Given the description of an element on the screen output the (x, y) to click on. 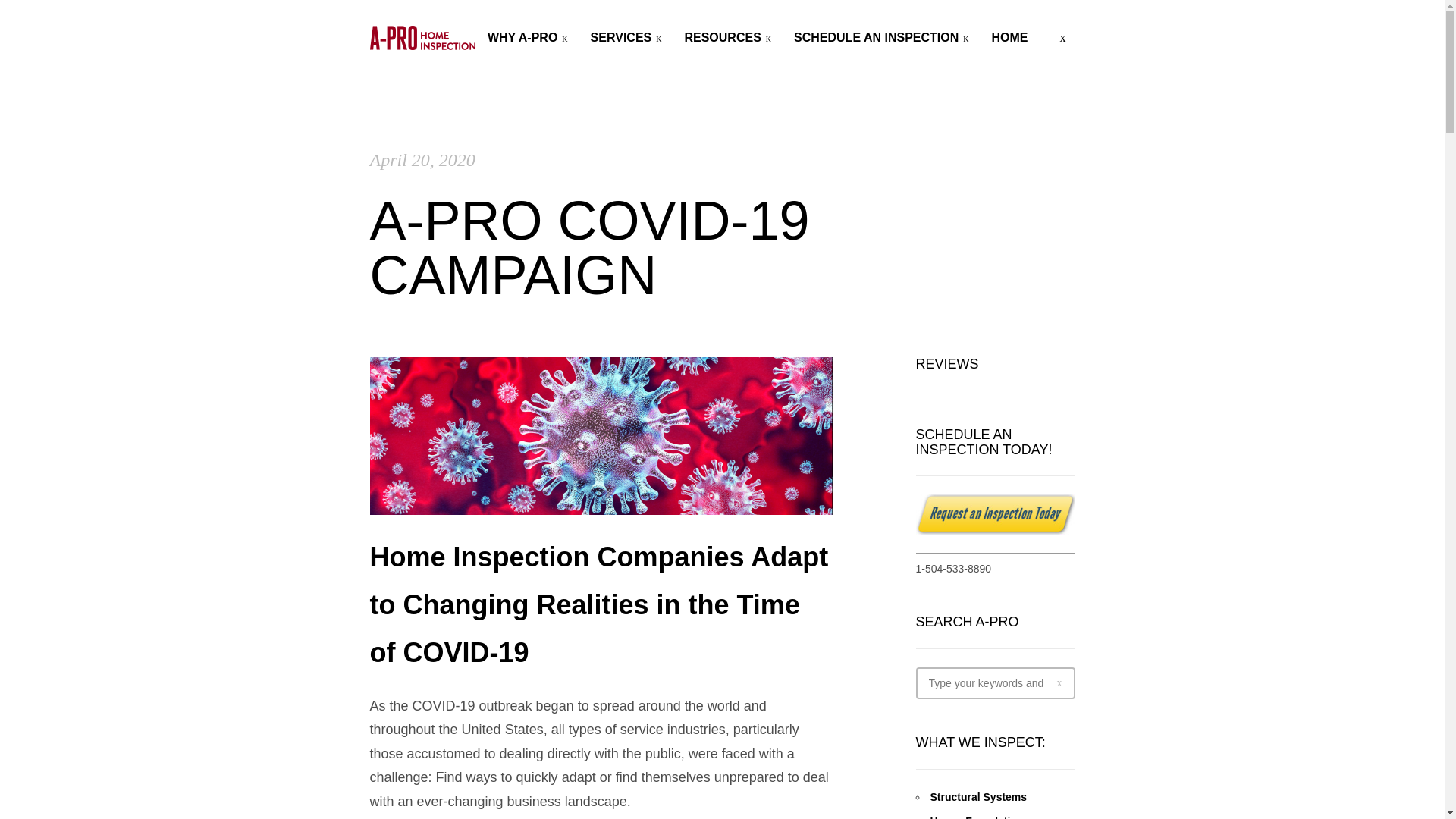
HOME (1009, 38)
WHY A-PRO (527, 38)
Services (626, 38)
Search (10, 12)
Find out more about foundation inspections (976, 816)
SERVICES (626, 38)
RESOURCES (727, 38)
Home Inspection in New Orleans LA (422, 37)
20200420 (722, 166)
SCHEDULE AN INSPECTION (880, 38)
